Given the description of an element on the screen output the (x, y) to click on. 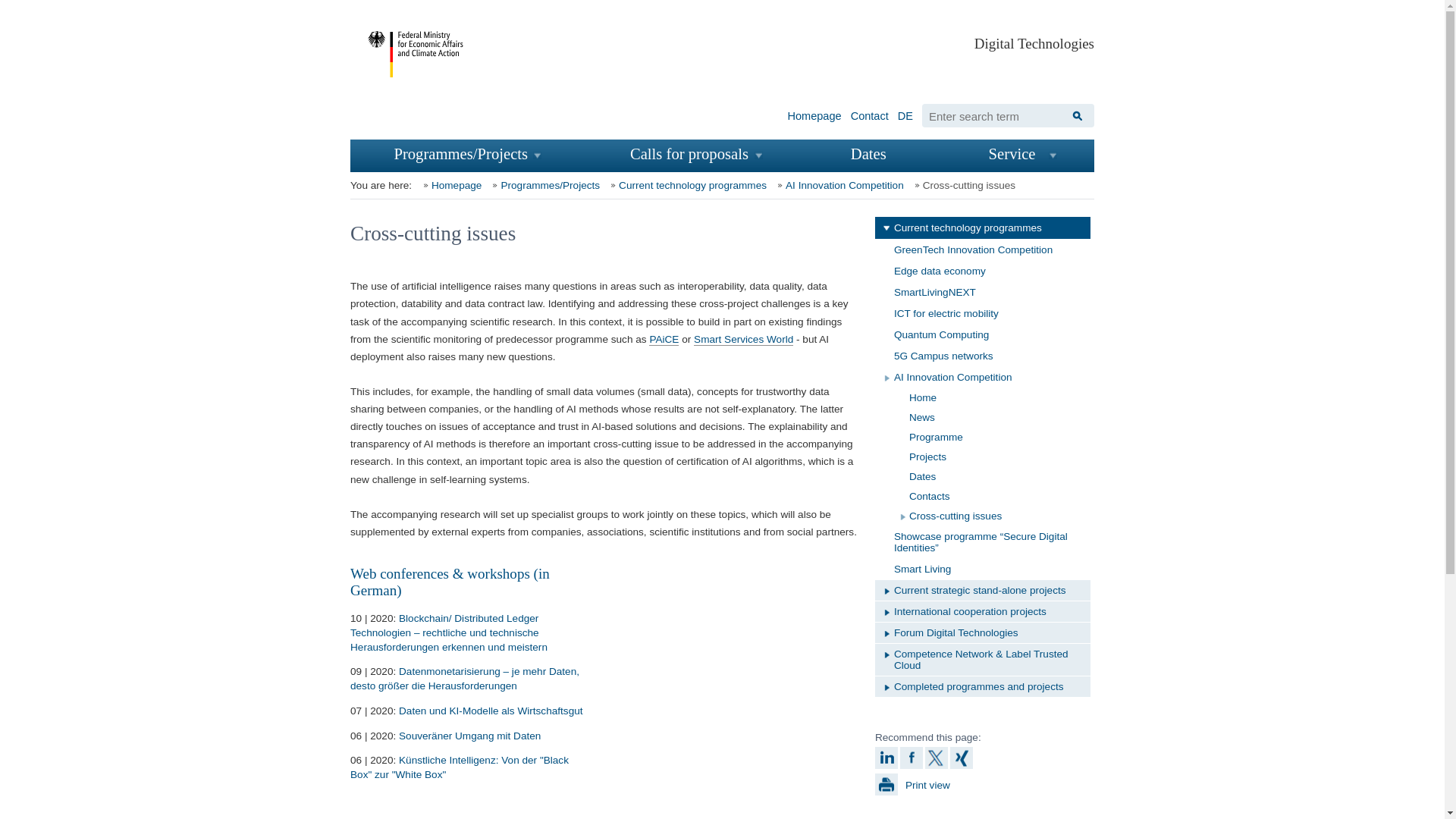
PAiCE (663, 339)
Smart Services World (743, 339)
Homepage (449, 184)
Homepage (814, 113)
Current technology programmes (685, 184)
Daten und KI-Modelle als Wirtschaftsgut (490, 710)
